Given the description of an element on the screen output the (x, y) to click on. 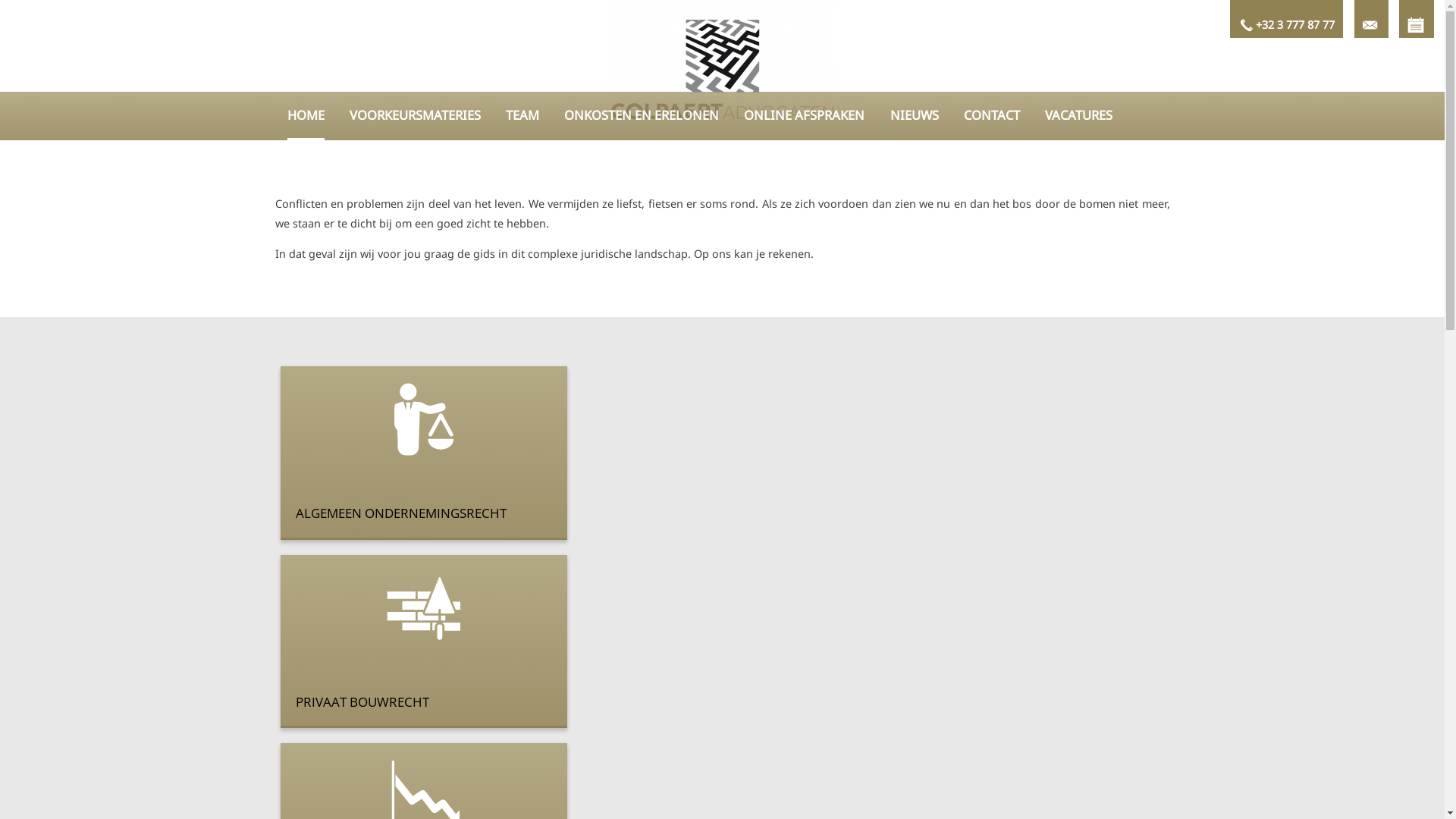
Maak een afspraak online Element type: hover (1416, 18)
Colpaert Advocaten Element type: hover (722, 69)
PRIVAAT BOUWRECHT Element type: text (423, 641)
ONLINE AFSPRAKEN Element type: text (803, 117)
ONKOSTEN EN ERELONEN Element type: text (641, 117)
VOORKEURSMATERIES Element type: text (414, 117)
+32 3 777 87 77 Element type: text (1286, 18)
Algemeen ondernemingsrecht -  Element type: hover (423, 411)
CONTACT Element type: text (991, 117)
HOME Element type: text (305, 117)
Contacteer ons hier Element type: hover (1371, 18)
Privaat bouwrecht -  Element type: hover (423, 600)
TEAM Element type: text (522, 117)
NIEUWS Element type: text (914, 117)
VACATURES Element type: text (1078, 117)
ALGEMEEN ONDERNEMINGSRECHT Element type: text (423, 452)
